Given the description of an element on the screen output the (x, y) to click on. 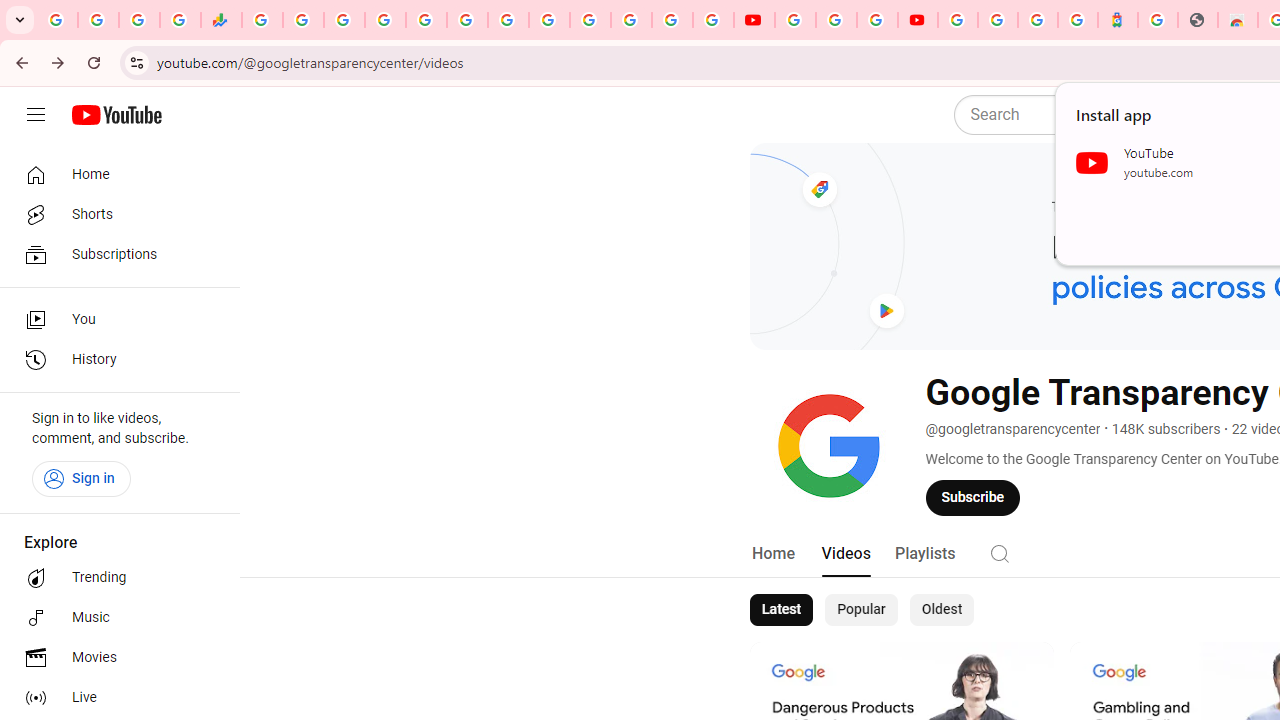
Playlists (924, 553)
Sign in - Google Accounts (589, 20)
Music (113, 617)
Videos (845, 553)
History (113, 359)
Subscribe (973, 497)
YouTube Home (116, 115)
YouTube (548, 20)
Create your Google Account (877, 20)
Subscriptions (113, 254)
Google Account Help (836, 20)
